Given the description of an element on the screen output the (x, y) to click on. 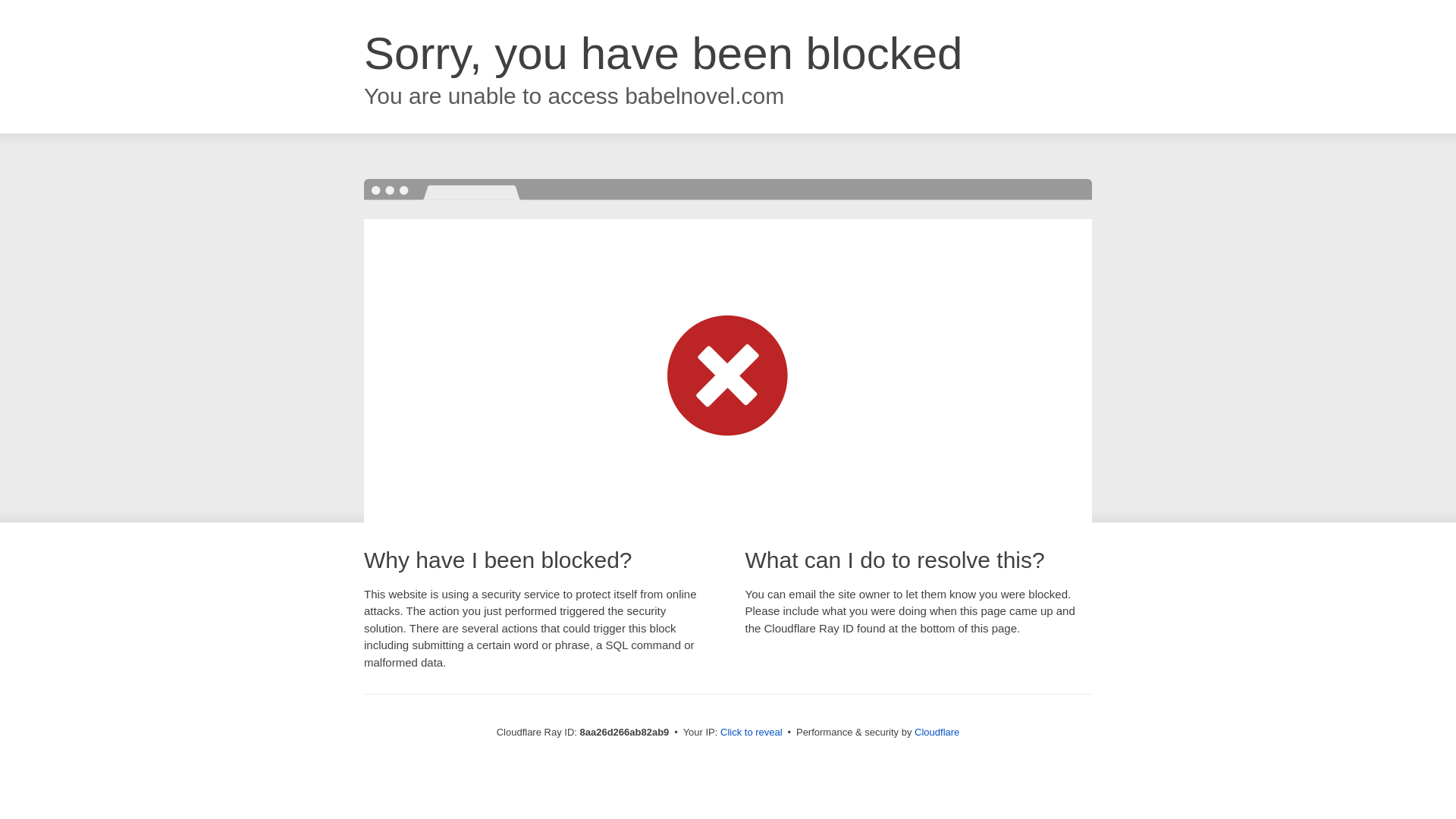
Cloudflare (936, 731)
Click to reveal (751, 732)
